Given the description of an element on the screen output the (x, y) to click on. 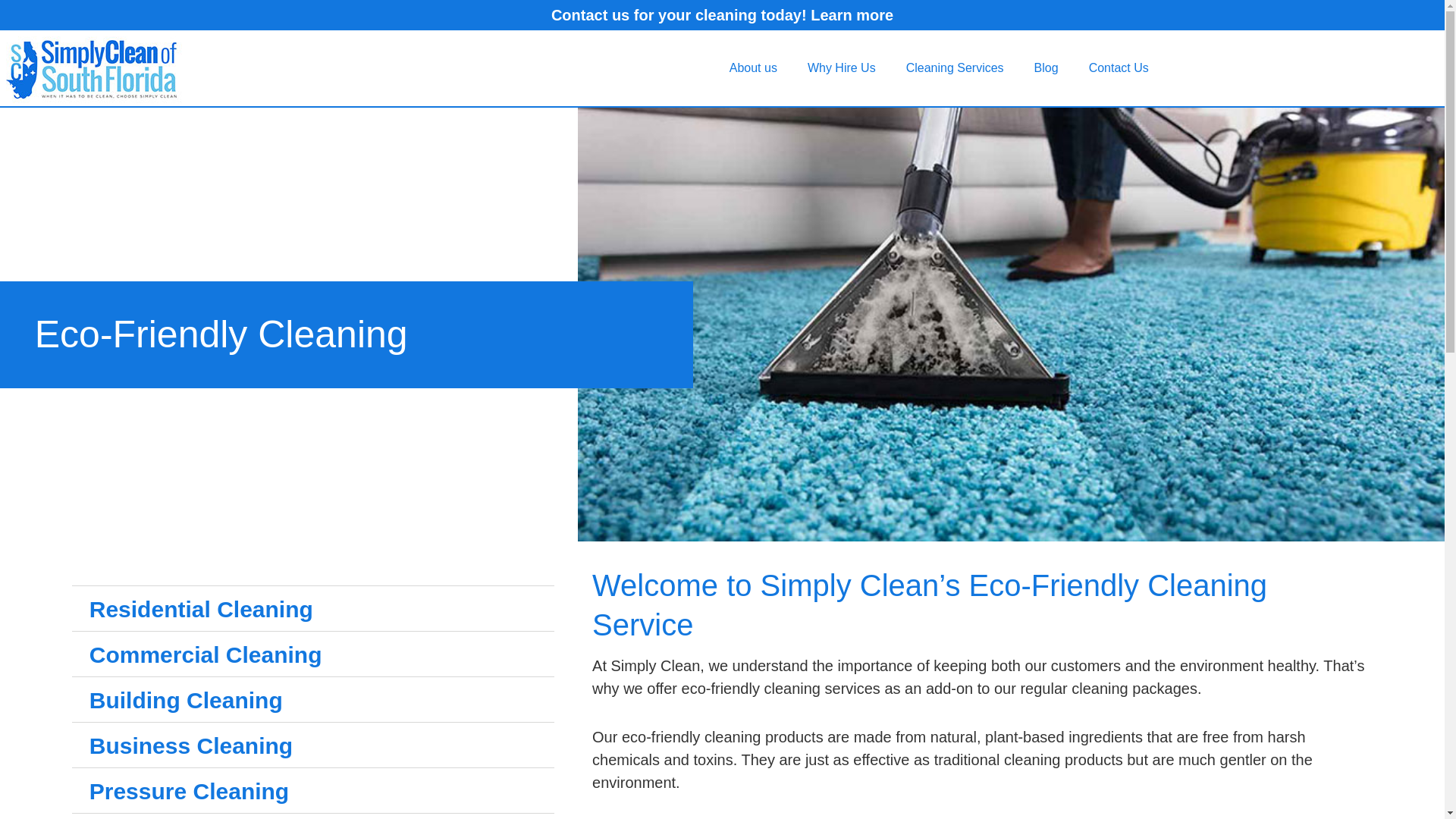
Cleaning Services (955, 67)
Blog (1046, 67)
Eco-Friendly Cleaning (220, 333)
Contact us for your cleaning today! Learn more (722, 14)
Residential Cleaning (312, 609)
Building Cleaning (312, 700)
Why Hire Us (841, 67)
Commercial Cleaning (312, 654)
Business Cleaning (312, 745)
Contact Us (1118, 67)
